Given the description of an element on the screen output the (x, y) to click on. 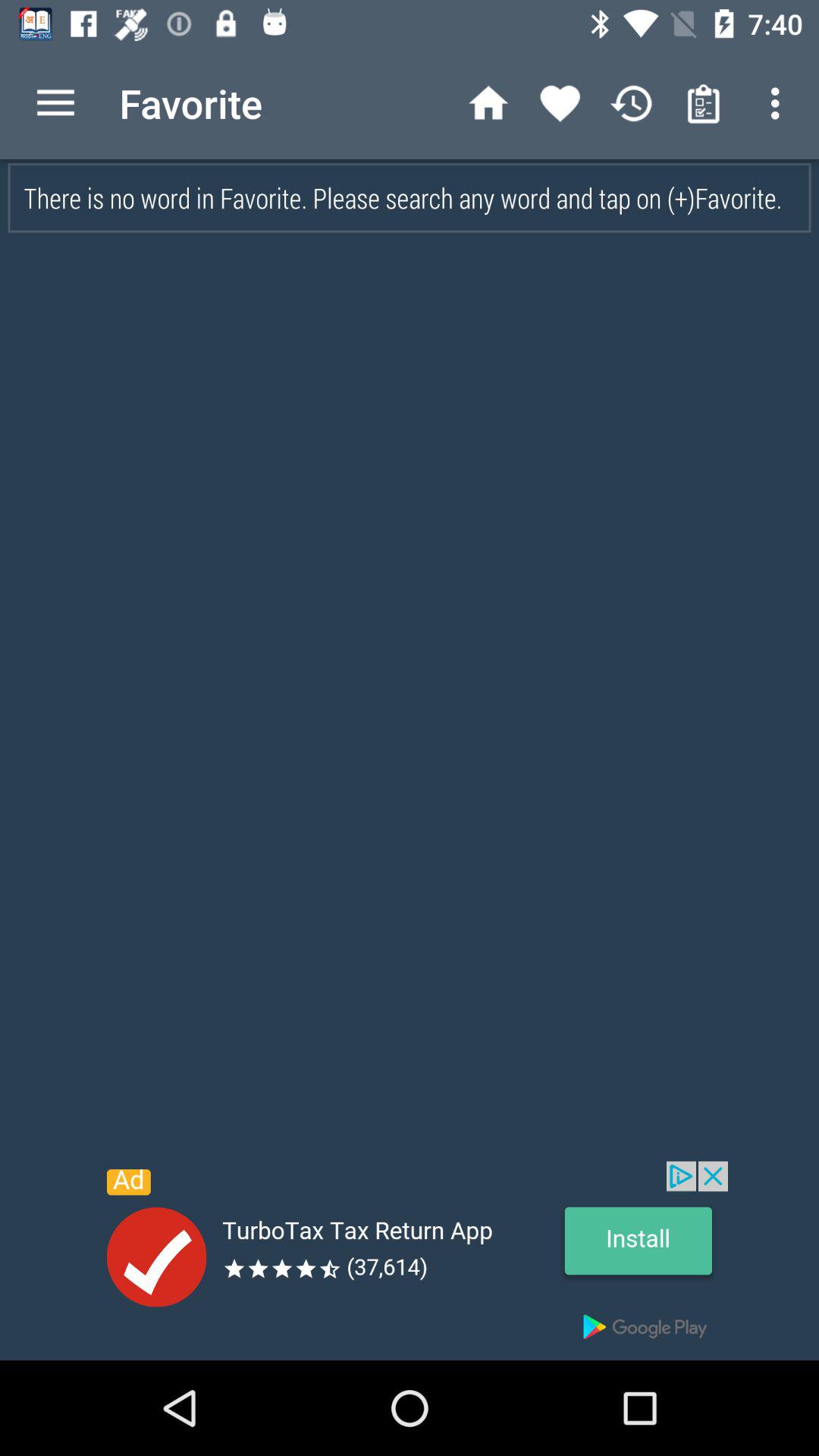
install new app button (409, 1260)
